Given the description of an element on the screen output the (x, y) to click on. 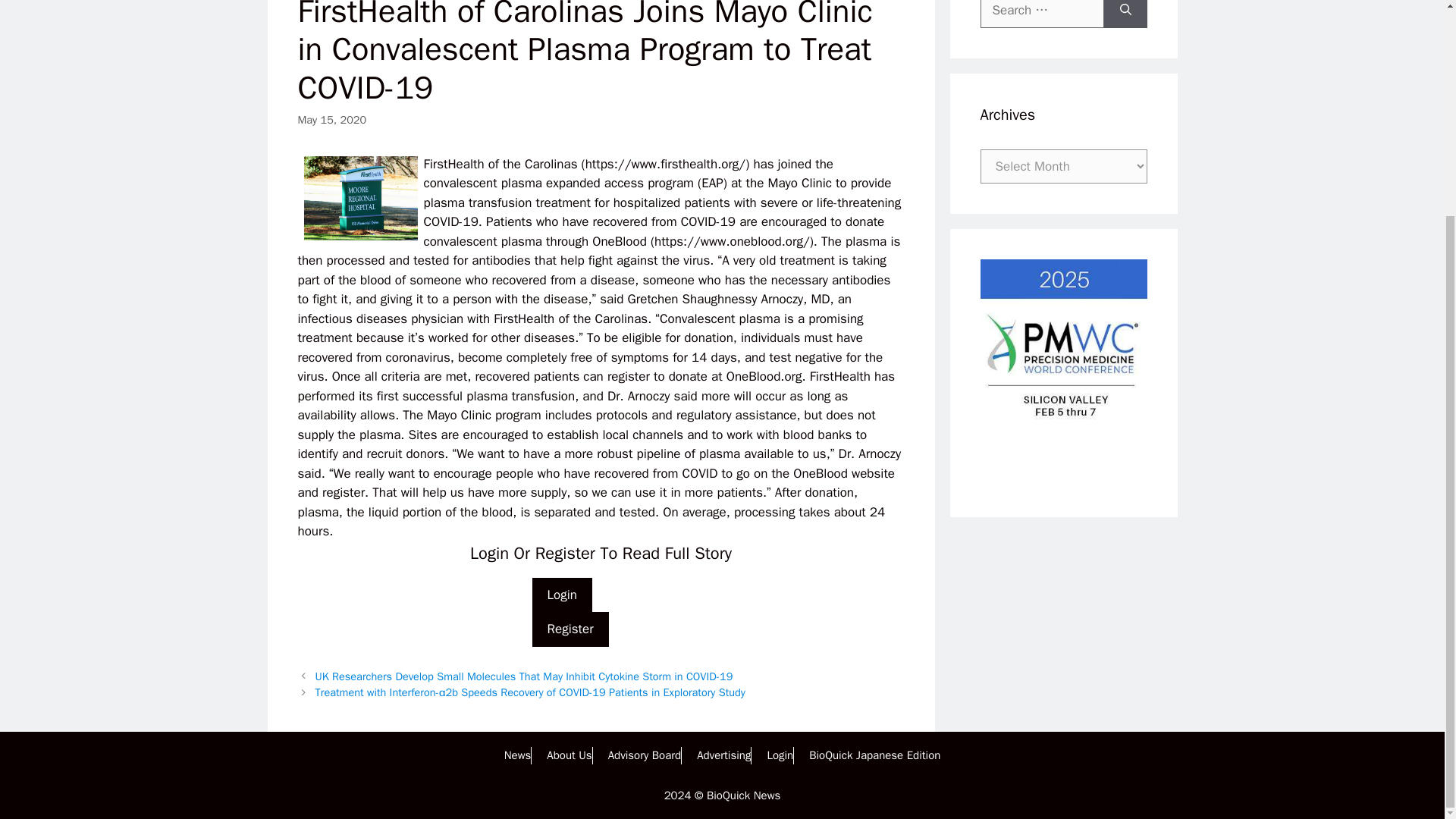
About Us (569, 755)
Advisory Board (644, 755)
News (517, 755)
Register (570, 629)
Login (780, 755)
Search for: (1041, 14)
Advertising (724, 755)
BioQuick Japanese Edition (874, 755)
Login (562, 595)
